Given the description of an element on the screen output the (x, y) to click on. 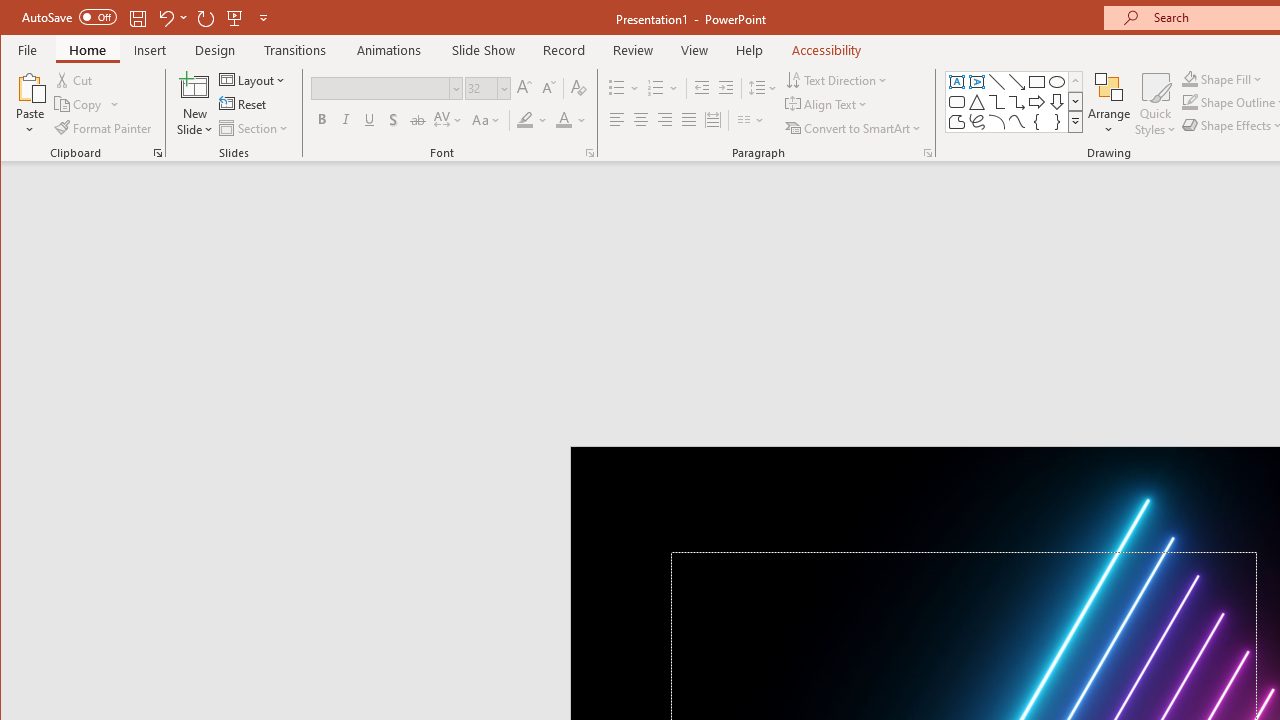
Decrease Indent (701, 88)
Justify (689, 119)
Connector: Elbow (996, 102)
Arc (996, 121)
Freeform: Shape (956, 121)
Vertical Text Box (976, 82)
Font Color Red (563, 119)
